Given the description of an element on the screen output the (x, y) to click on. 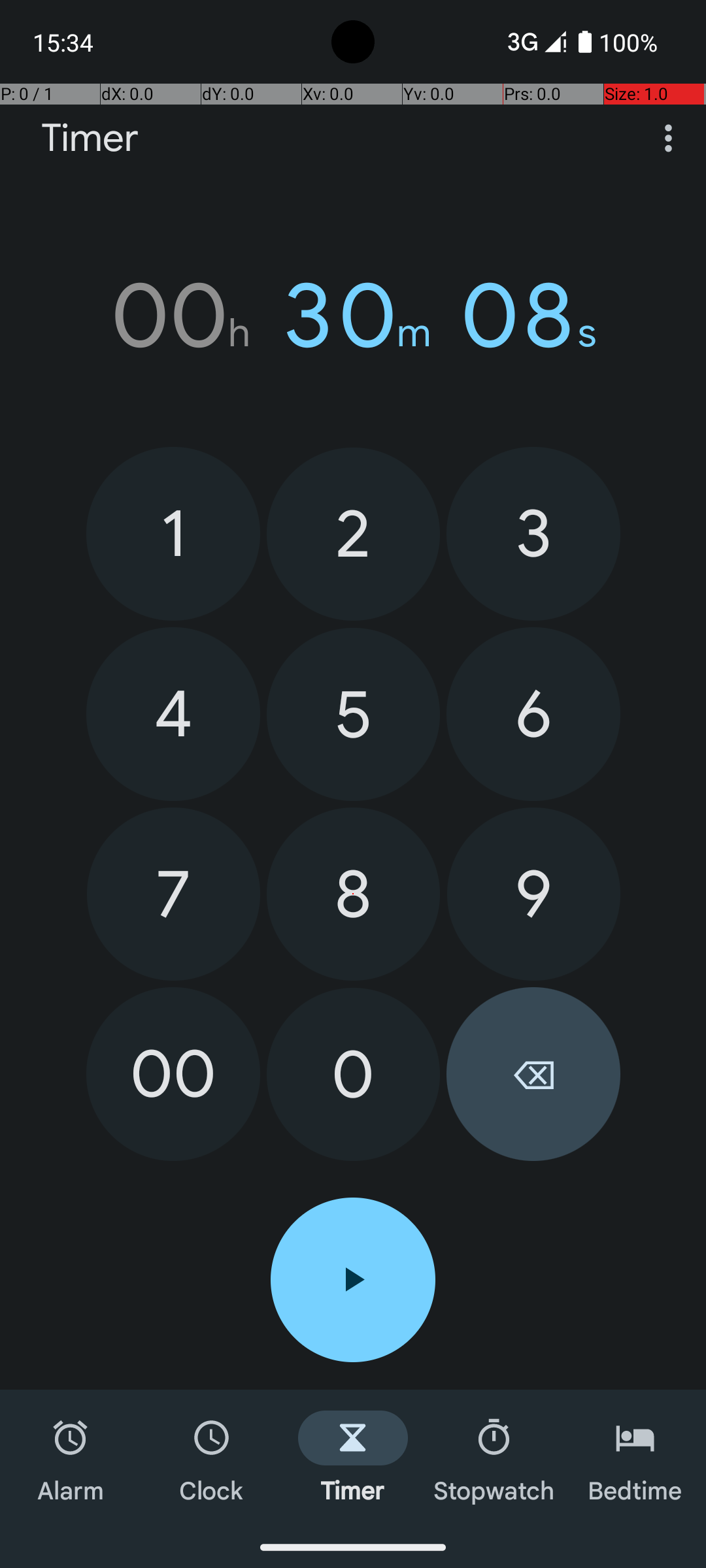
00h 30m 08s Element type: android.widget.TextView (353, 315)
